Given the description of an element on the screen output the (x, y) to click on. 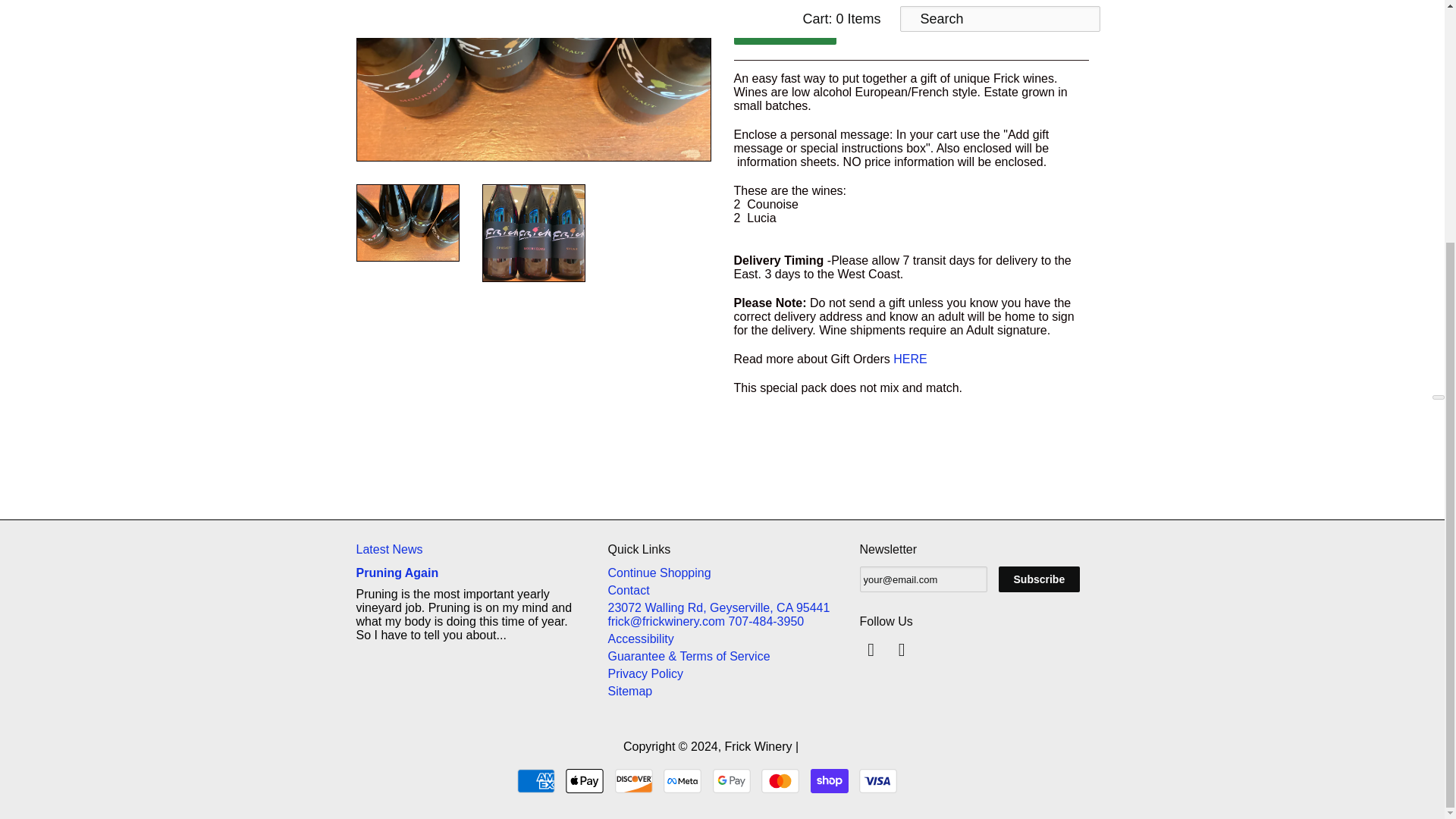
Add to cart (784, 31)
Continue Shopping (659, 572)
Accessibility (641, 638)
Add to cart (784, 31)
Follow us on Facebook! (873, 652)
1 (755, 1)
Follow us on Instagram! (903, 652)
Subscribe (1038, 579)
Sitemap (630, 690)
Gift Order Information (909, 358)
